Given the description of an element on the screen output the (x, y) to click on. 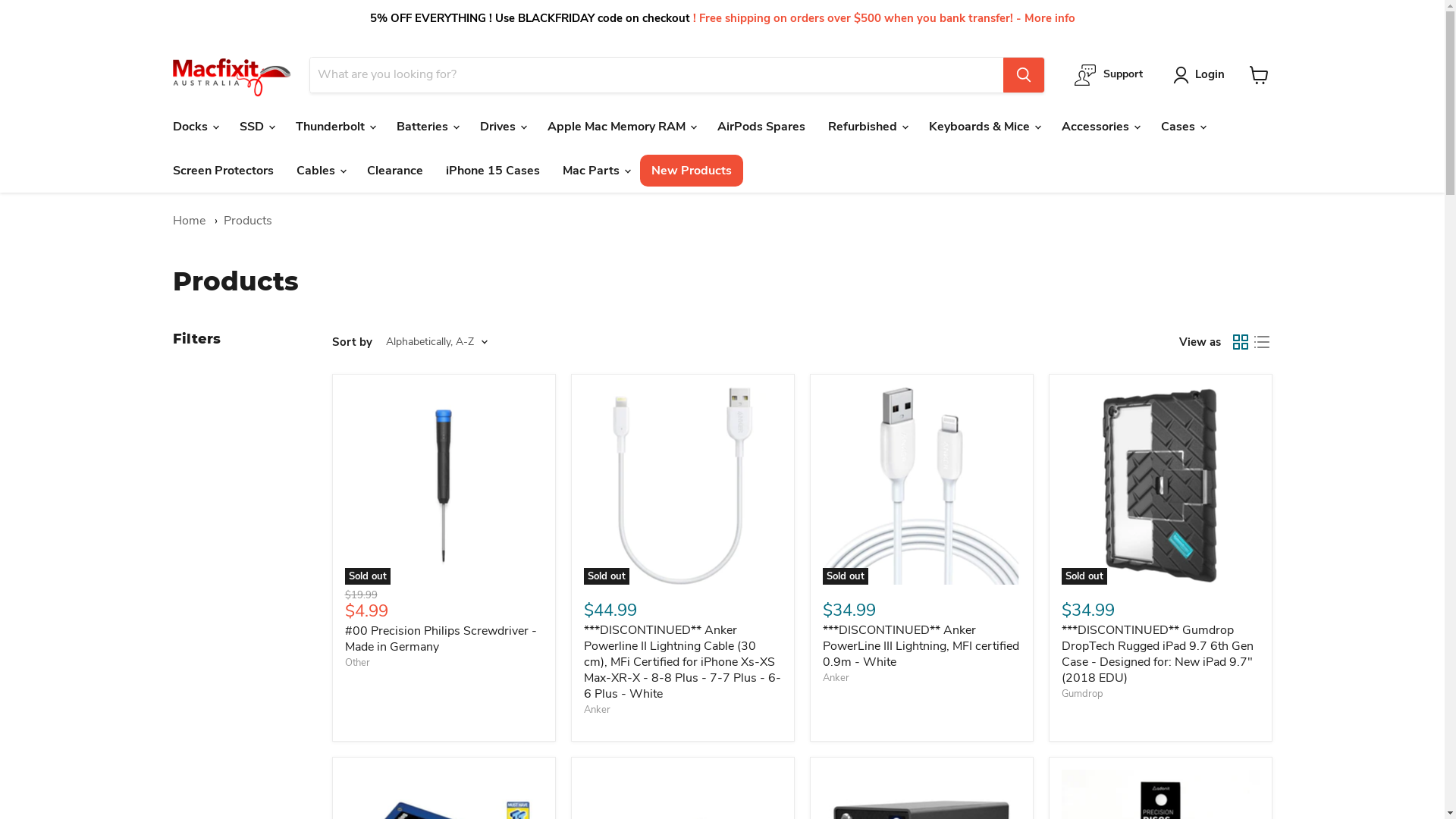
#00 Precision Philips Screwdriver - Made in Germany Element type: text (440, 638)
AirPods Spares Element type: text (760, 126)
Sold out Element type: text (443, 485)
New Products Element type: text (691, 170)
Products Element type: text (246, 220)
Login Element type: text (1209, 74)
Clearance Element type: text (393, 170)
Sold out Element type: text (682, 485)
Gumdrop Element type: text (1082, 693)
Support Element type: text (1108, 73)
Home Element type: text (188, 220)
Anker Element type: text (596, 709)
Other Element type: text (356, 662)
View cart Element type: text (1259, 74)
Screen Protectors Element type: text (222, 170)
Sold out Element type: text (1160, 485)
Sold out Element type: text (920, 485)
Anker Element type: text (835, 677)
iPhone 15 Cases Element type: text (491, 170)
